Given the description of an element on the screen output the (x, y) to click on. 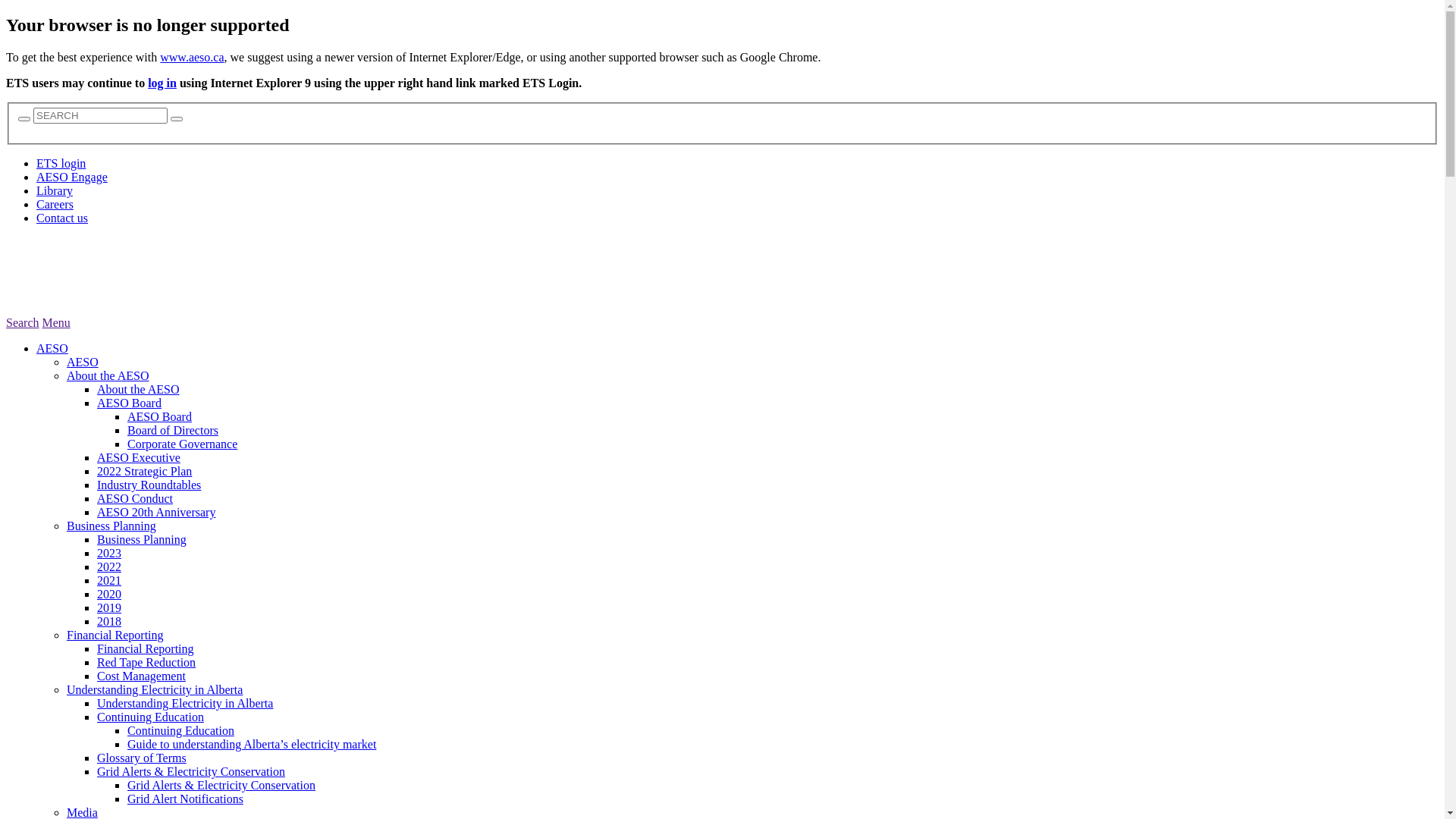
Continuing Education Element type: text (180, 730)
AESO Conduct Element type: text (134, 498)
2022 Element type: text (109, 566)
2023 Element type: text (109, 552)
Library Element type: text (54, 190)
AESO 20th Anniversary Element type: text (156, 511)
About the AESO Element type: text (137, 388)
Business Planning Element type: text (111, 525)
AESO Executive Element type: text (138, 457)
Grid Alerts & Electricity Conservation Element type: text (221, 784)
AESO Board Element type: text (129, 402)
Board of Directors Element type: text (172, 429)
Business Planning Element type: text (141, 539)
ETS login Element type: text (60, 162)
Red Tape Reduction Element type: text (146, 661)
Corporate Governance Element type: text (182, 443)
AESO Element type: text (52, 348)
About the AESO Element type: text (107, 375)
AESO Element type: text (82, 361)
Industry Roundtables Element type: text (148, 484)
Financial Reporting Element type: text (114, 634)
Financial Reporting Element type: text (145, 648)
Understanding Electricity in Alberta Element type: text (185, 702)
Contact us Element type: text (61, 217)
Understanding Electricity in Alberta Element type: text (154, 689)
Grid Alert Notifications Element type: text (185, 798)
Careers Element type: text (54, 203)
2022 Strategic Plan Element type: text (144, 470)
Grid Alerts & Electricity Conservation Element type: text (191, 771)
Continuing Education Element type: text (150, 716)
Menu Element type: text (56, 322)
log in Element type: text (161, 82)
Cost Management Element type: text (141, 675)
www.aeso.ca Element type: text (191, 56)
Glossary of Terms Element type: text (141, 757)
2020 Element type: text (109, 593)
2021 Element type: text (109, 580)
Search Element type: text (22, 322)
2018 Element type: text (109, 621)
AESO Engage Element type: text (71, 176)
2019 Element type: text (109, 607)
AESO Board Element type: text (159, 416)
